Given the description of an element on the screen output the (x, y) to click on. 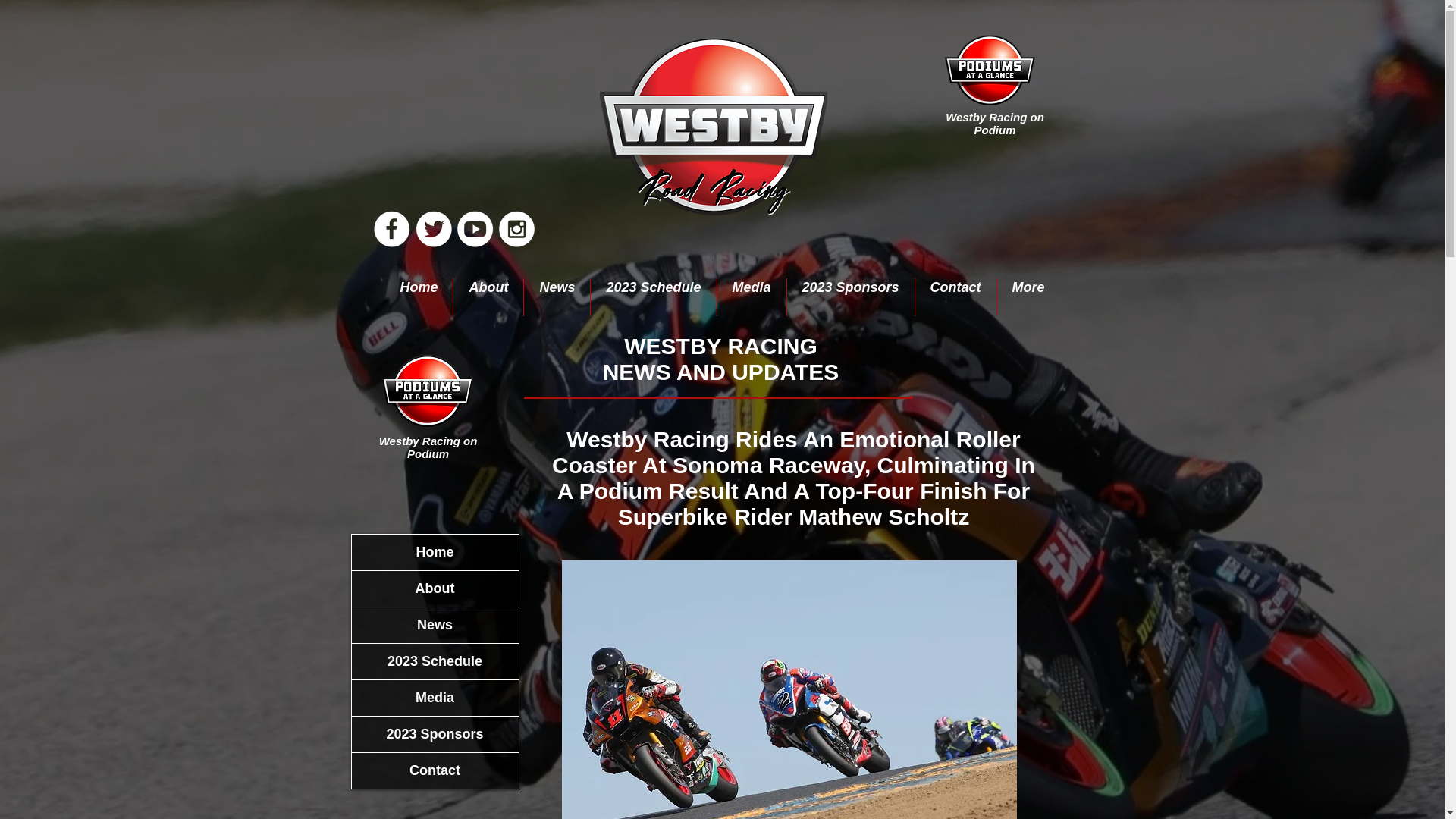
Westby Racing on Podium (427, 447)
Contact (955, 297)
Westby Racing on Podium (993, 123)
Home (435, 552)
Home (418, 297)
About (487, 297)
News (435, 624)
2023 Schedule (653, 297)
2023 Sponsors (850, 297)
Media (751, 297)
